Given the description of an element on the screen output the (x, y) to click on. 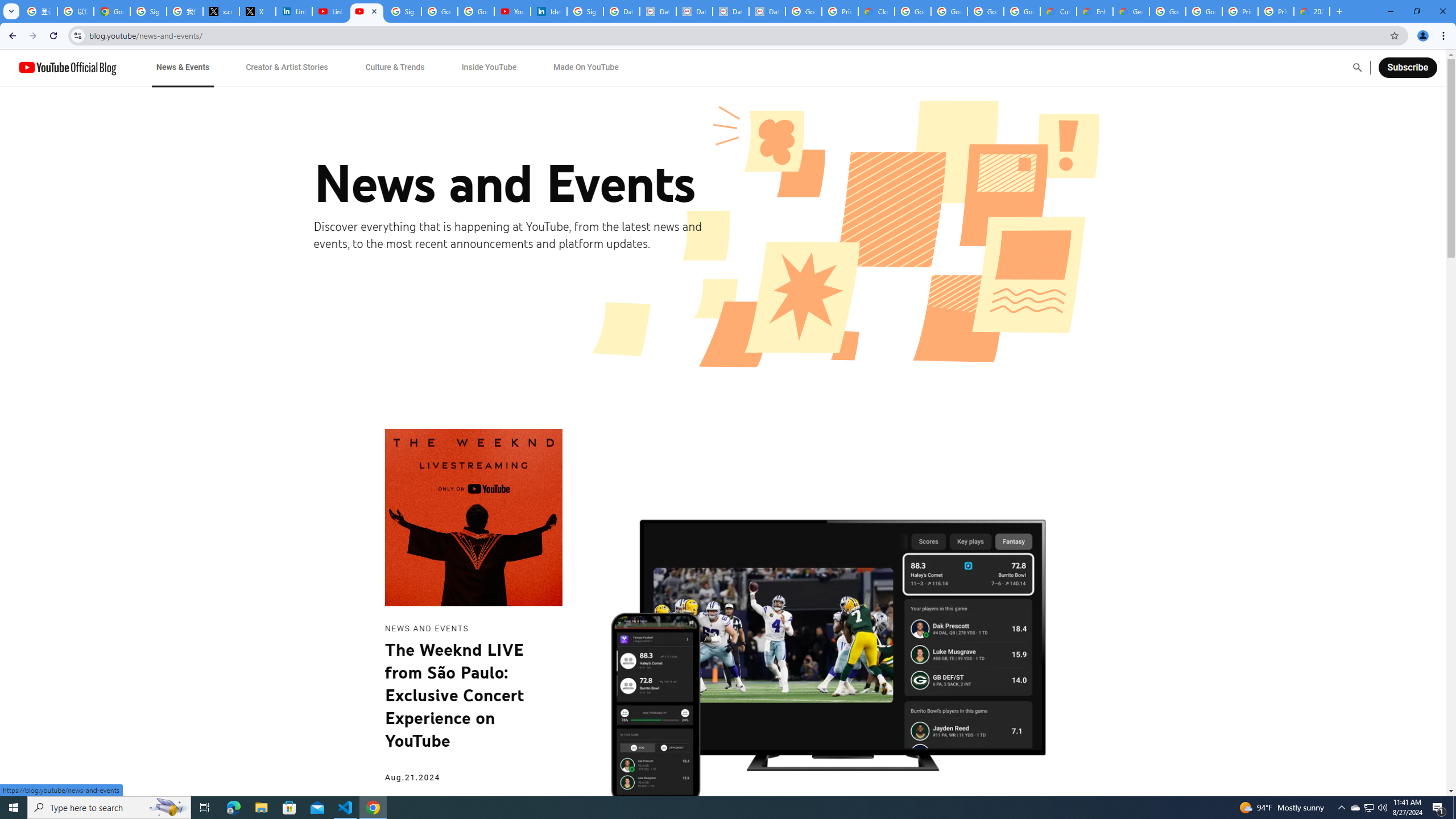
X (257, 11)
Sign in - Google Accounts (403, 11)
News & Events (182, 67)
Data Privacy Framework (730, 11)
Sign in - Google Accounts (148, 11)
Creator & Artist Stories (287, 67)
